Given the description of an element on the screen output the (x, y) to click on. 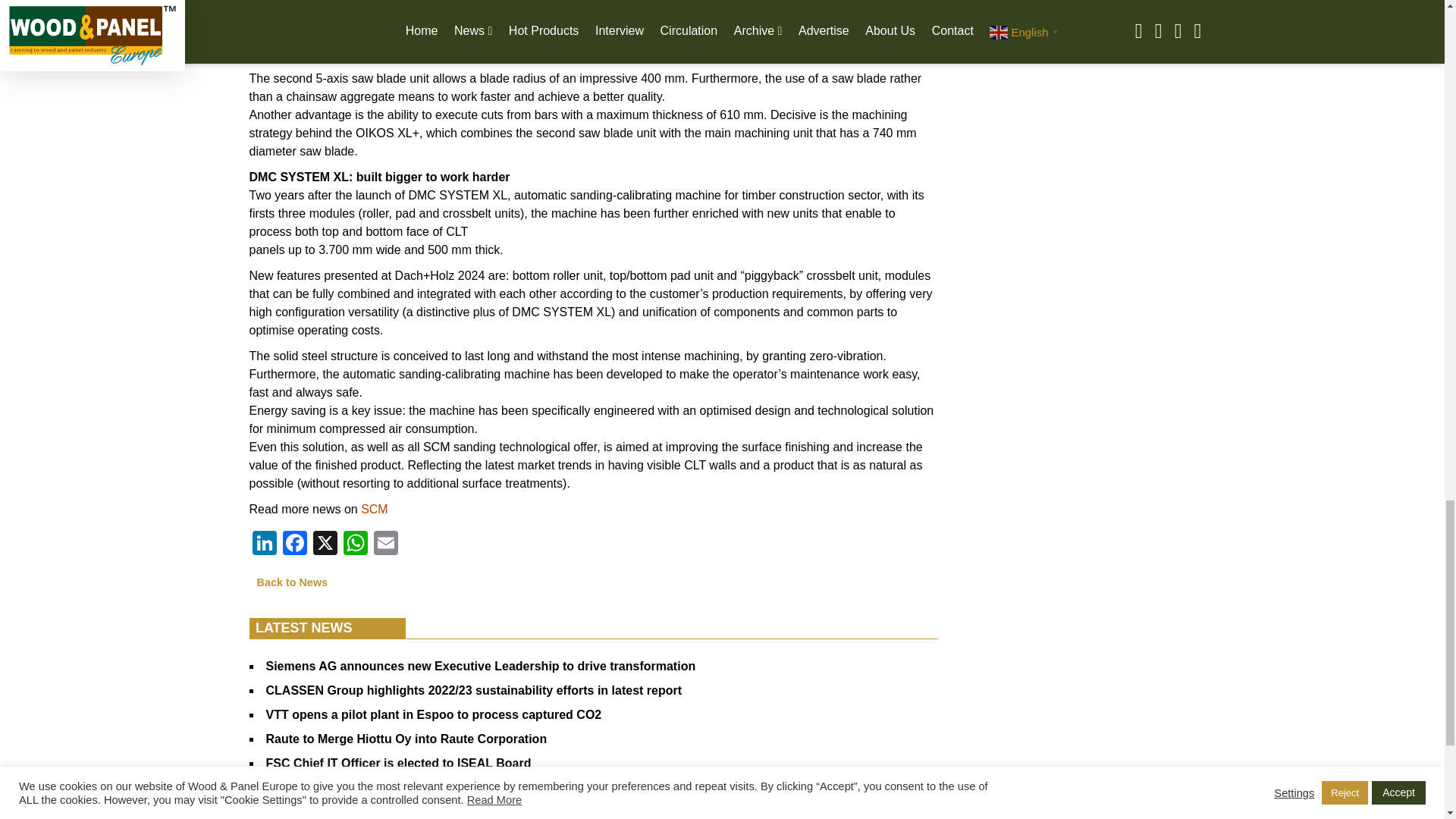
Email (384, 544)
LinkedIn (263, 544)
X (323, 544)
Facebook (293, 544)
WhatsApp (354, 544)
